Given the description of an element on the screen output the (x, y) to click on. 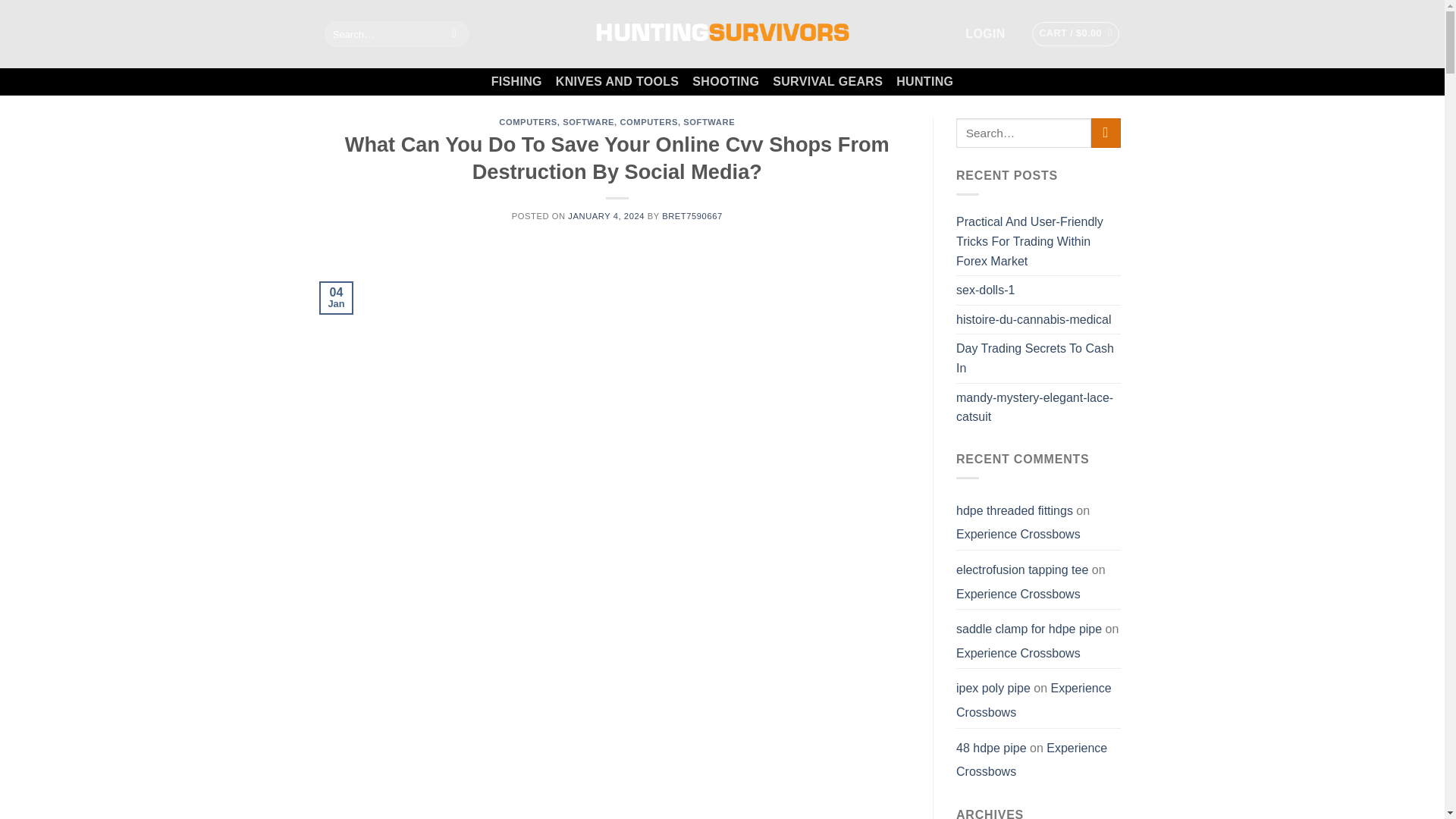
HUNTING (924, 81)
electrofusion tapping tee (1021, 569)
Experience Crossbows (1018, 534)
LOGIN (984, 33)
Day Trading Secrets To Cash In (1038, 358)
hdpe threaded fittings (1014, 510)
Hunting Survivors - Gear Up for New Adventure! (721, 33)
histoire-du-cannabis-medical (1034, 319)
COMPUTERS, SOFTWARE (677, 121)
